Given the description of an element on the screen output the (x, y) to click on. 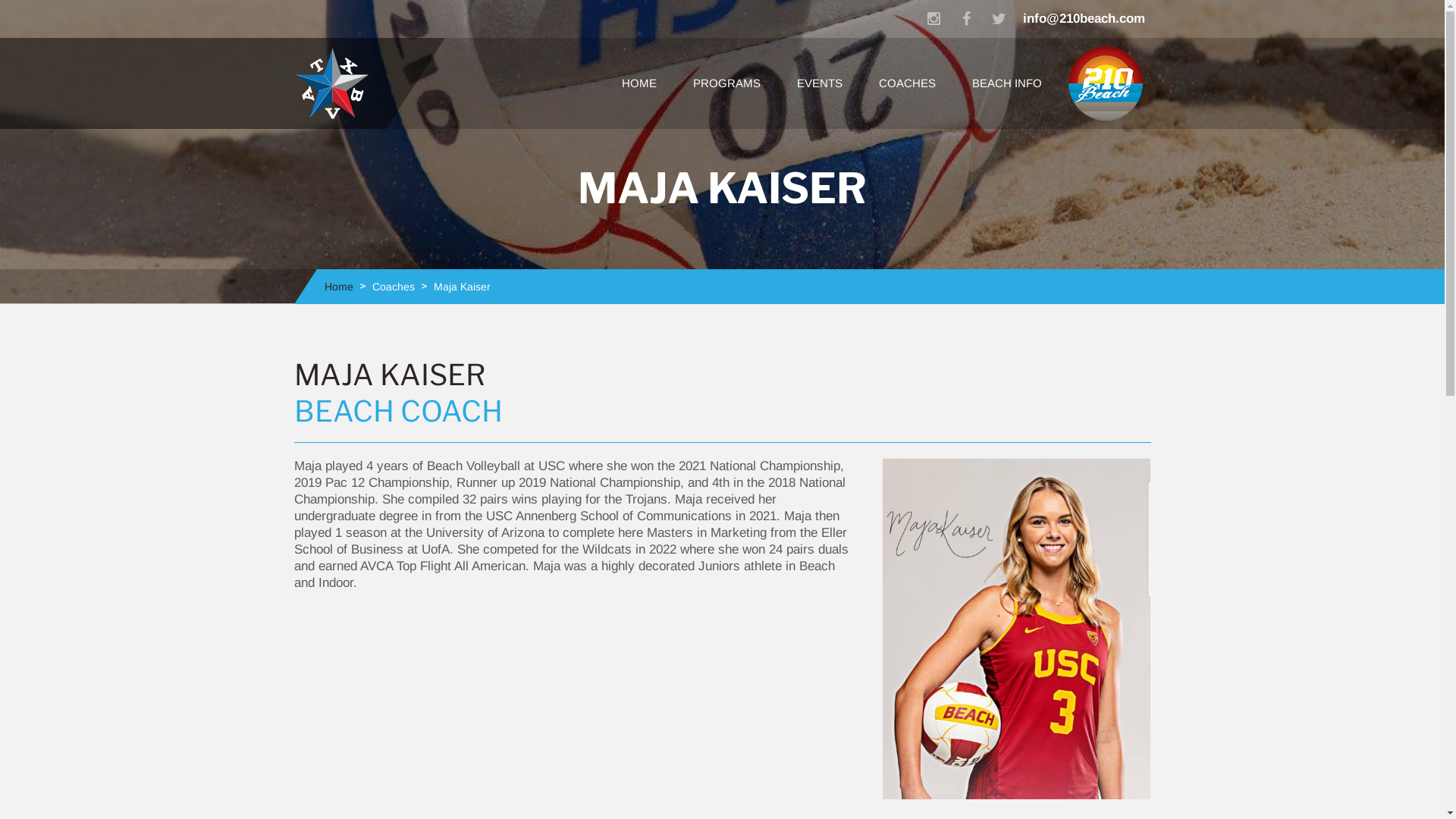
210 Beach Volleyball LLC Home Element type: hover (1105, 82)
Home Element type: text (338, 286)
Coaches Element type: text (392, 286)
BEACH INFO Element type: text (1006, 82)
PROGRAMS Element type: text (726, 82)
210 Beach Volleyball LLC Home Element type: hover (1105, 83)
EVENTS Element type: text (818, 82)
COACHES Element type: text (906, 82)
HOME Element type: text (638, 82)
info@210beach.com Element type: text (1083, 18)
